Given the description of an element on the screen output the (x, y) to click on. 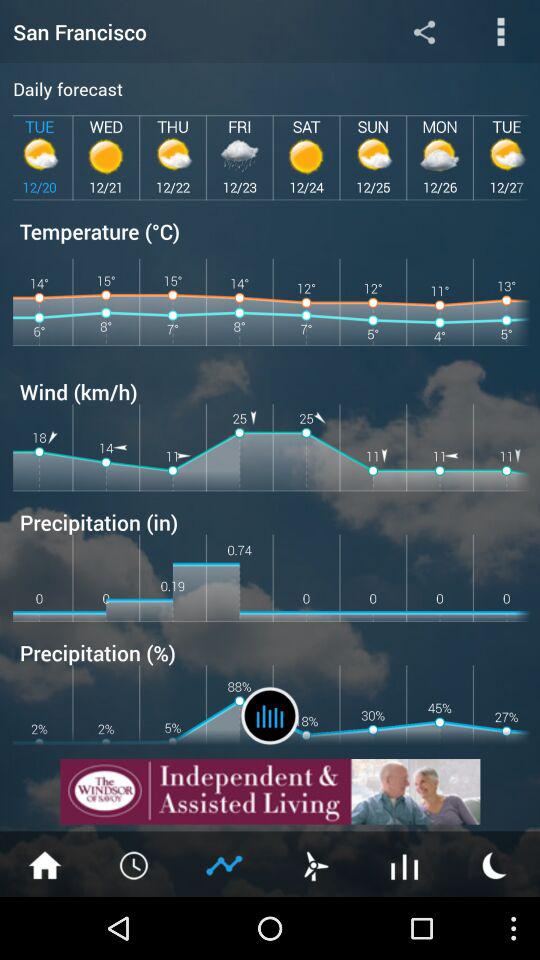
open wind speed information (315, 864)
